Given the description of an element on the screen output the (x, y) to click on. 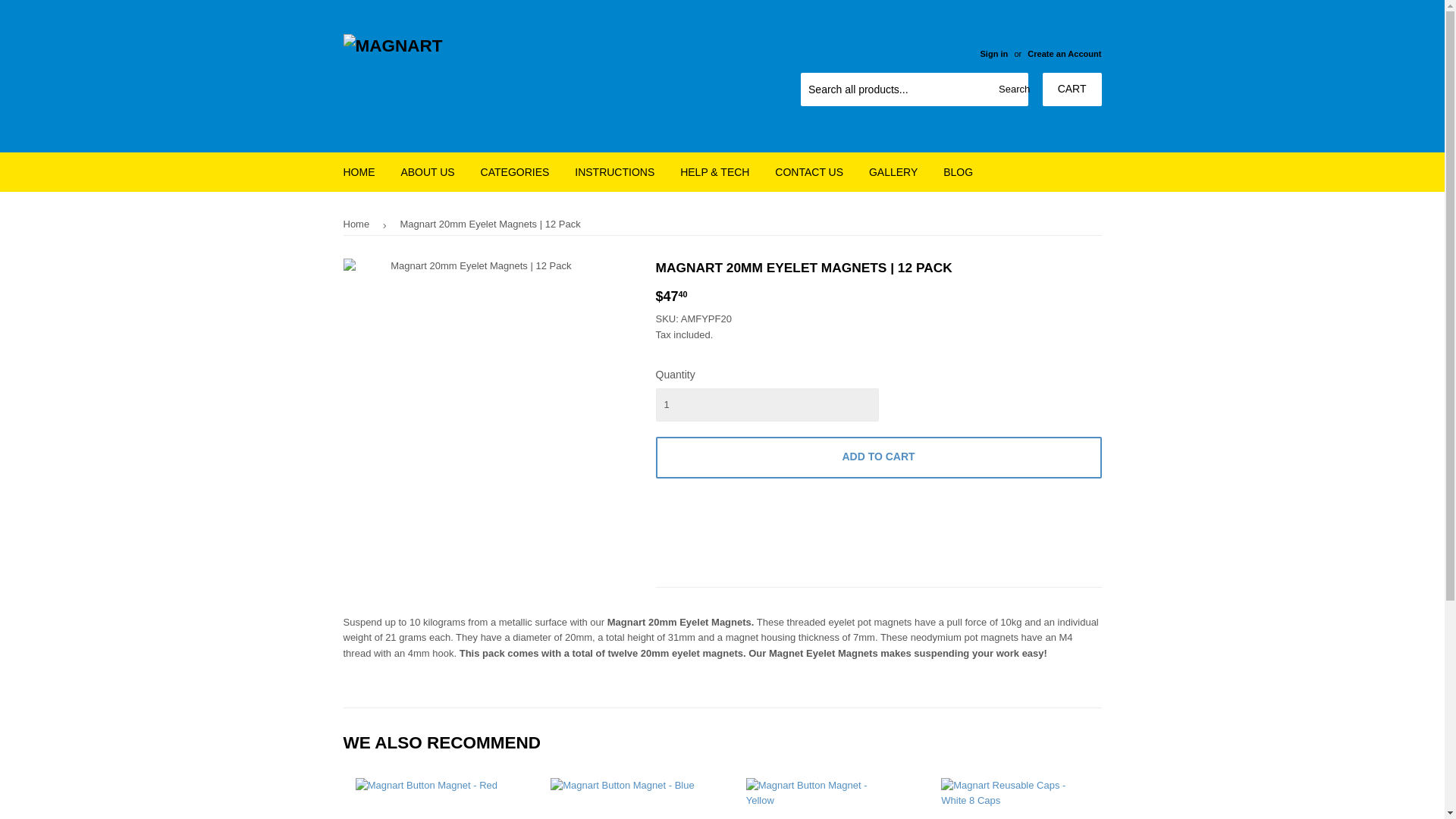
ABOUT US (426, 171)
CART (1072, 89)
Sign in (993, 53)
CATEGORIES (514, 171)
1 (766, 404)
Search (1010, 90)
Create an Account (1063, 53)
HOME (359, 171)
